Given the description of an element on the screen output the (x, y) to click on. 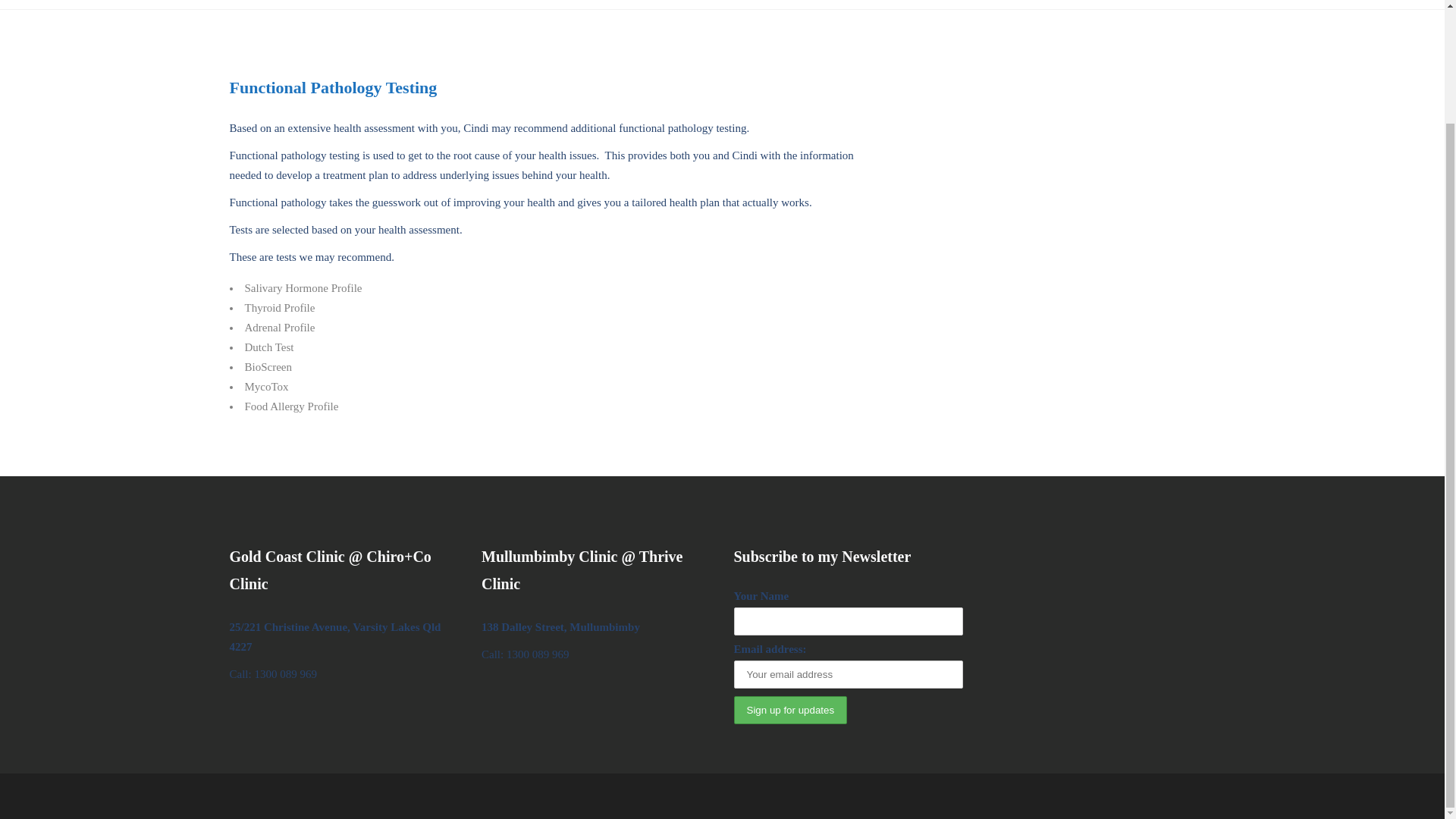
Sign up for updates (790, 709)
Home (773, 4)
Contact (889, 4)
Appointments (961, 4)
Sign up for updates (790, 709)
Fertility (1166, 4)
Blog (1321, 4)
Metabolic Balance (1247, 4)
Packages (1035, 4)
Hormones (1101, 4)
About Us (829, 4)
